Given the description of an element on the screen output the (x, y) to click on. 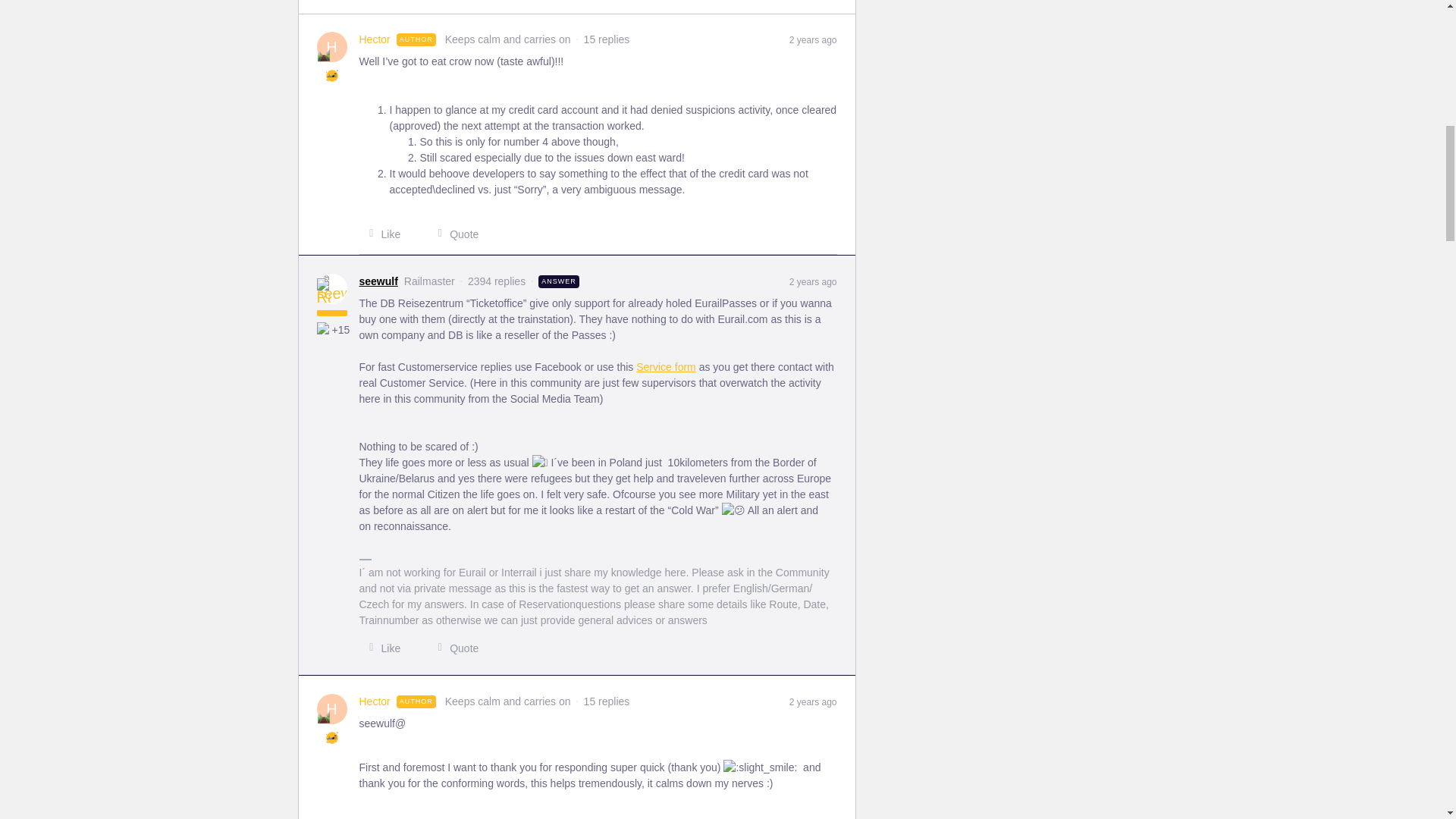
Hector (374, 39)
Easygoing (331, 737)
seewulf (378, 281)
Like (380, 233)
Hector (374, 39)
Keeps calm and carries on (323, 55)
Easygoing (331, 75)
Hector (374, 701)
Travel Guide (324, 329)
2 years ago (813, 39)
H (332, 708)
Keeps calm and carries on (323, 716)
Quote (453, 233)
Service form (665, 367)
2 years ago (813, 701)
